Given the description of an element on the screen output the (x, y) to click on. 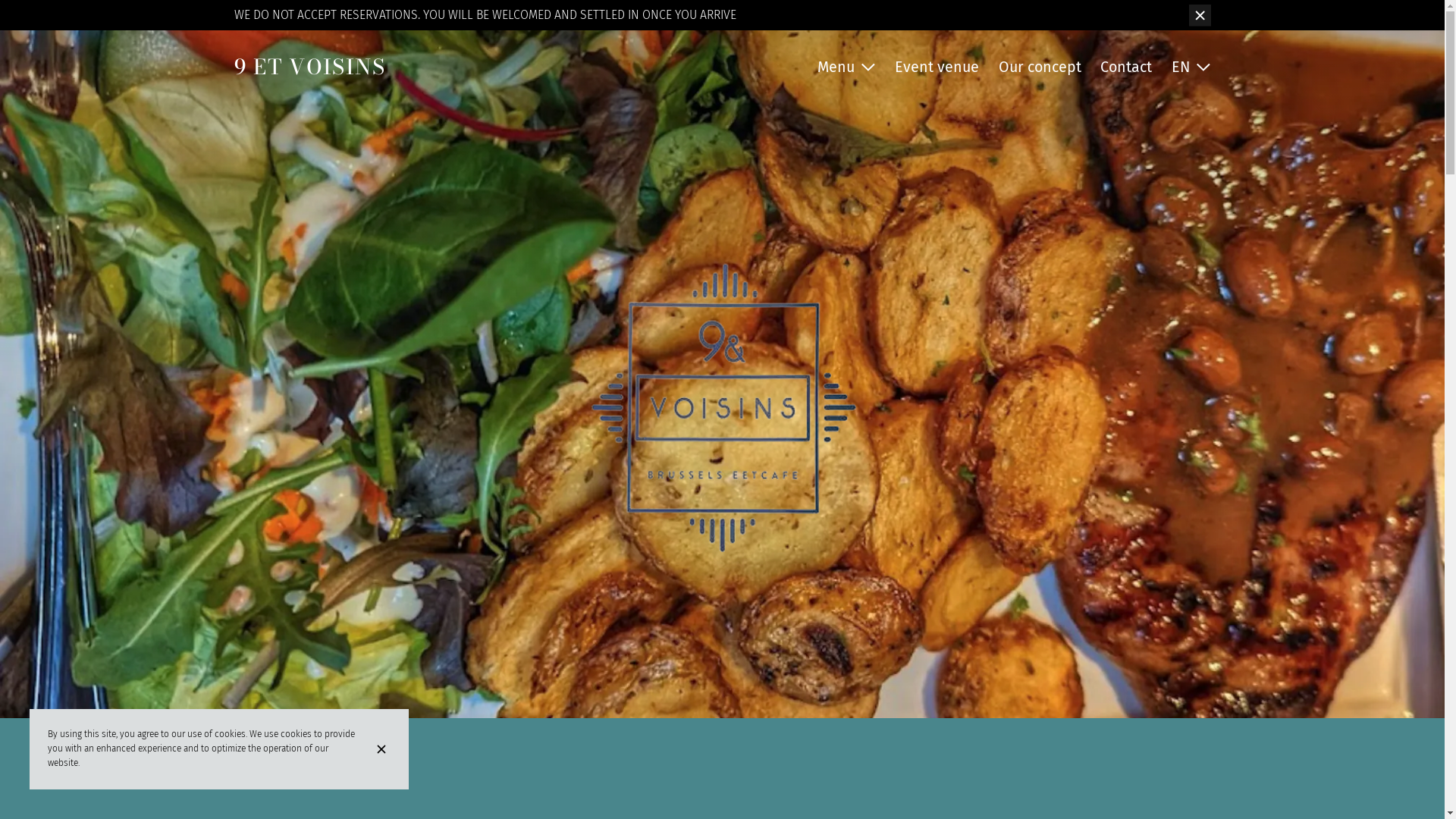
Close the cookie information banner Element type: hover (383, 748)
9 ET VOISINS
9 ET VOISINS Element type: text (308, 67)
Contact Element type: text (1125, 66)
Picture of 9 et Voisins Element type: hover (722, 359)
Menu Element type: text (846, 67)
EN Element type: text (1191, 67)
Event venue Element type: text (936, 66)
Our concept Element type: text (1039, 66)
